Given the description of an element on the screen output the (x, y) to click on. 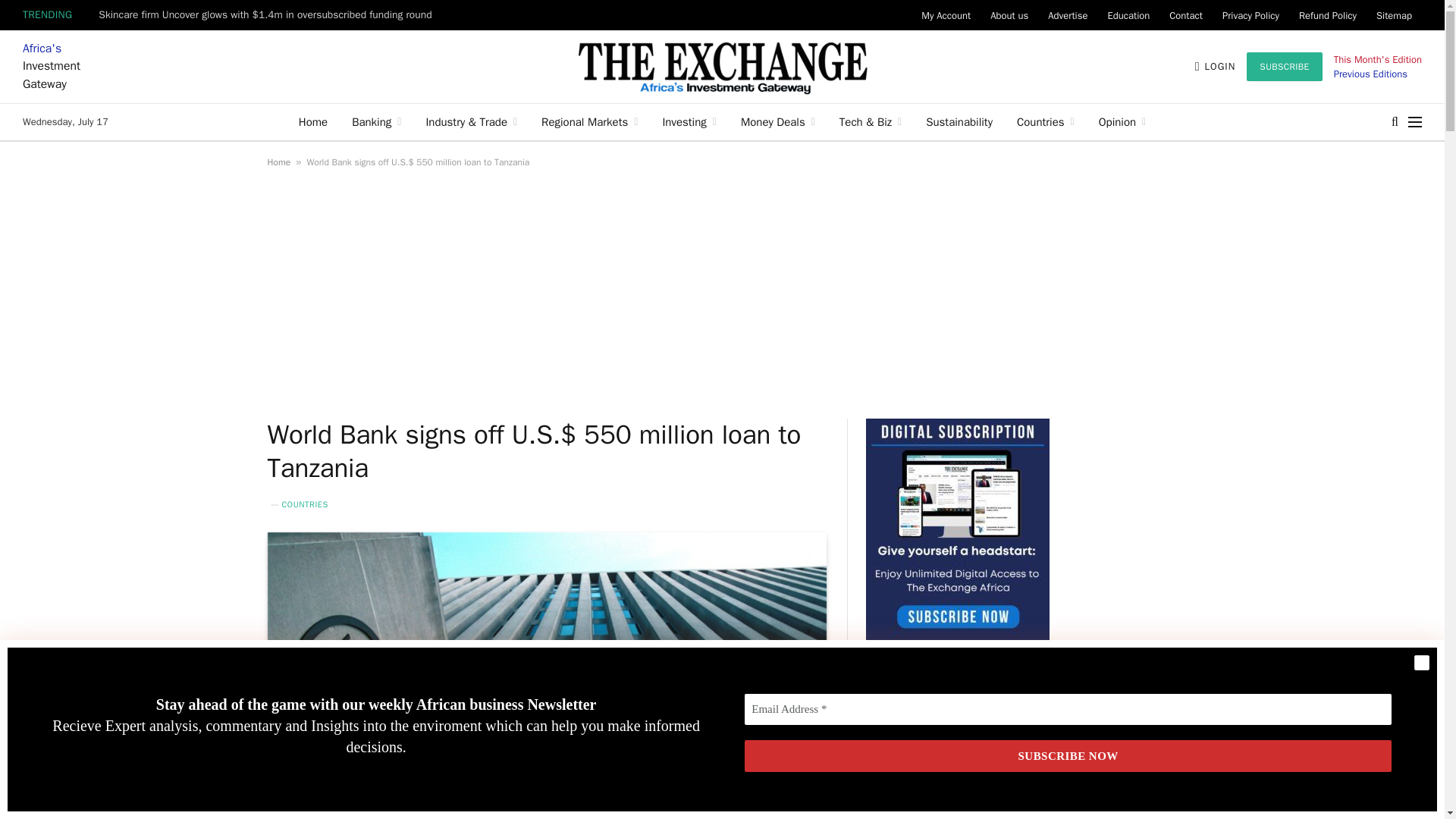
Refund Policy (1327, 15)
SUBSCRIBE NOW (1067, 756)
This Months Editions (1370, 73)
Sitemap (1394, 15)
This Months Edition (1377, 59)
My Account (945, 15)
This Month's Edition (1377, 59)
LOGIN (1215, 66)
SUBSCRIBE (1284, 66)
The Exchange (721, 66)
Education (1127, 15)
Advertise (1067, 15)
Privacy Policy (1250, 15)
About us (1008, 15)
Contact (1185, 15)
